Given the description of an element on the screen output the (x, y) to click on. 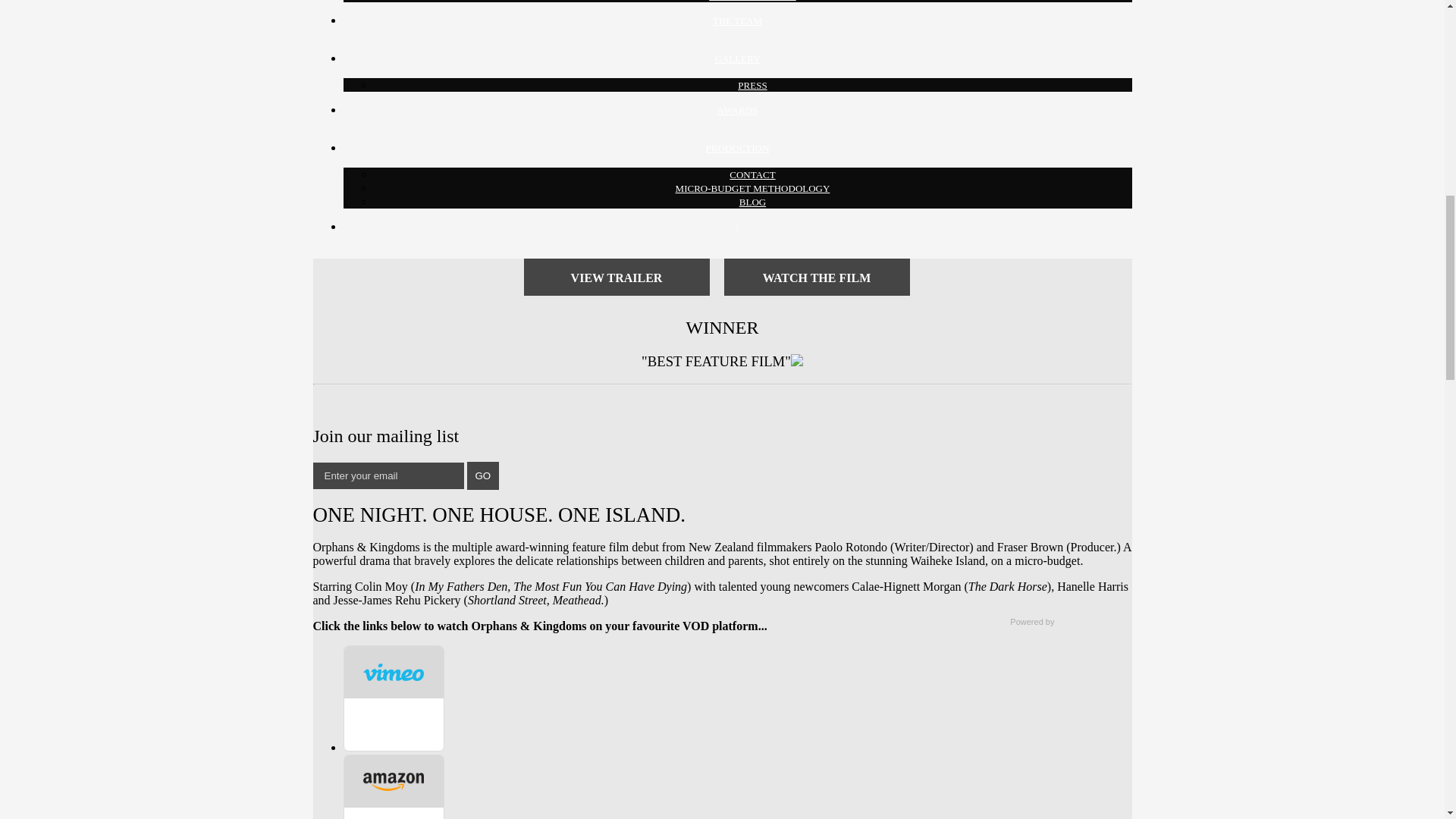
MICRO-BUDGET METHODOLOGY (752, 188)
GO (483, 475)
PRESS (752, 84)
GALLERY (737, 58)
AWARDS (737, 110)
VIEW TRAILER (615, 276)
PRODUCTION (738, 147)
CONTACT (751, 174)
BLOG (752, 202)
THE CHARACTERS (751, 0)
THE TEAM (737, 20)
WATCH THE FILM (815, 276)
Powered by JustWatch (1059, 621)
